Given the description of an element on the screen output the (x, y) to click on. 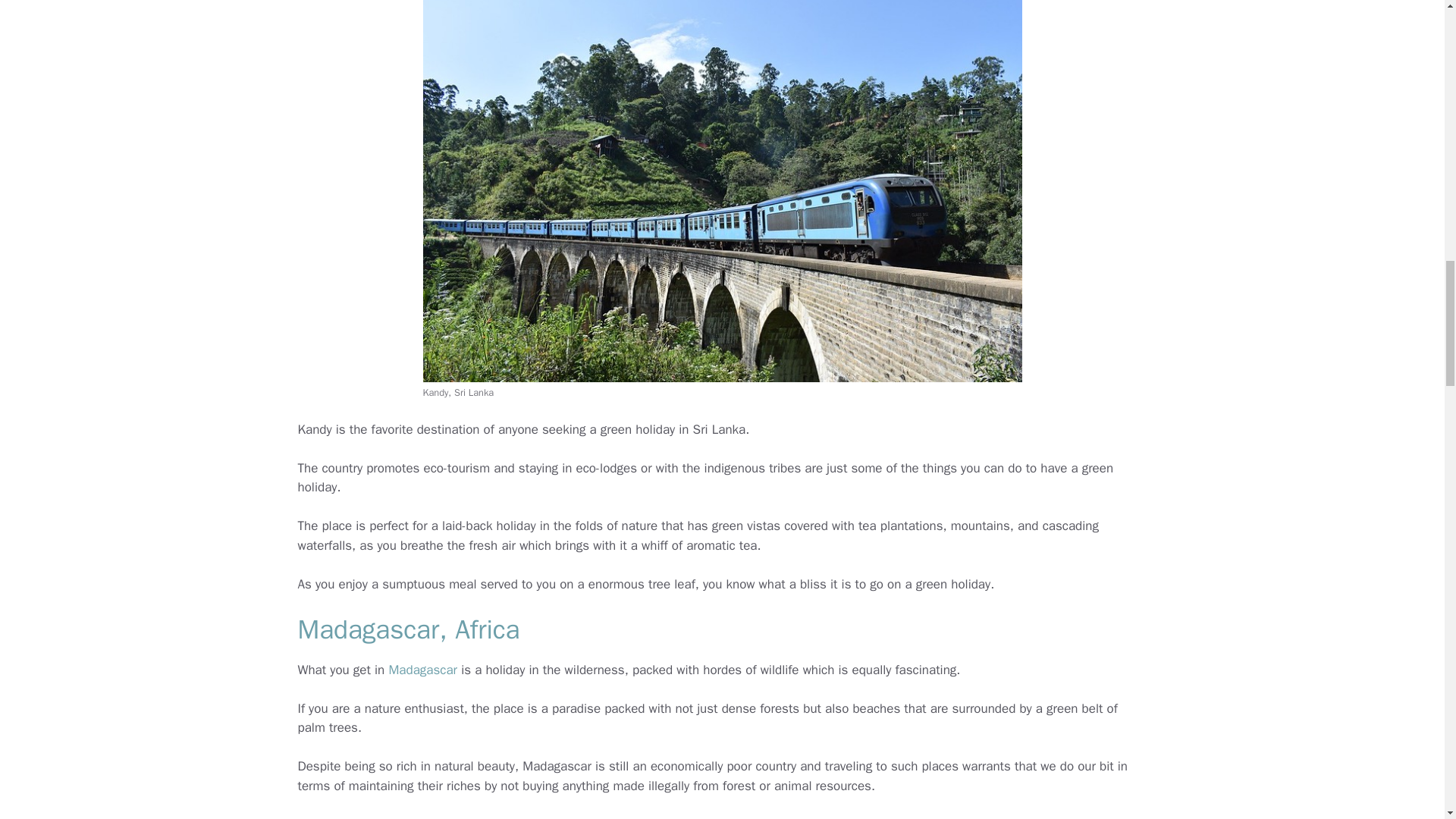
Madagascar (422, 669)
